Given the description of an element on the screen output the (x, y) to click on. 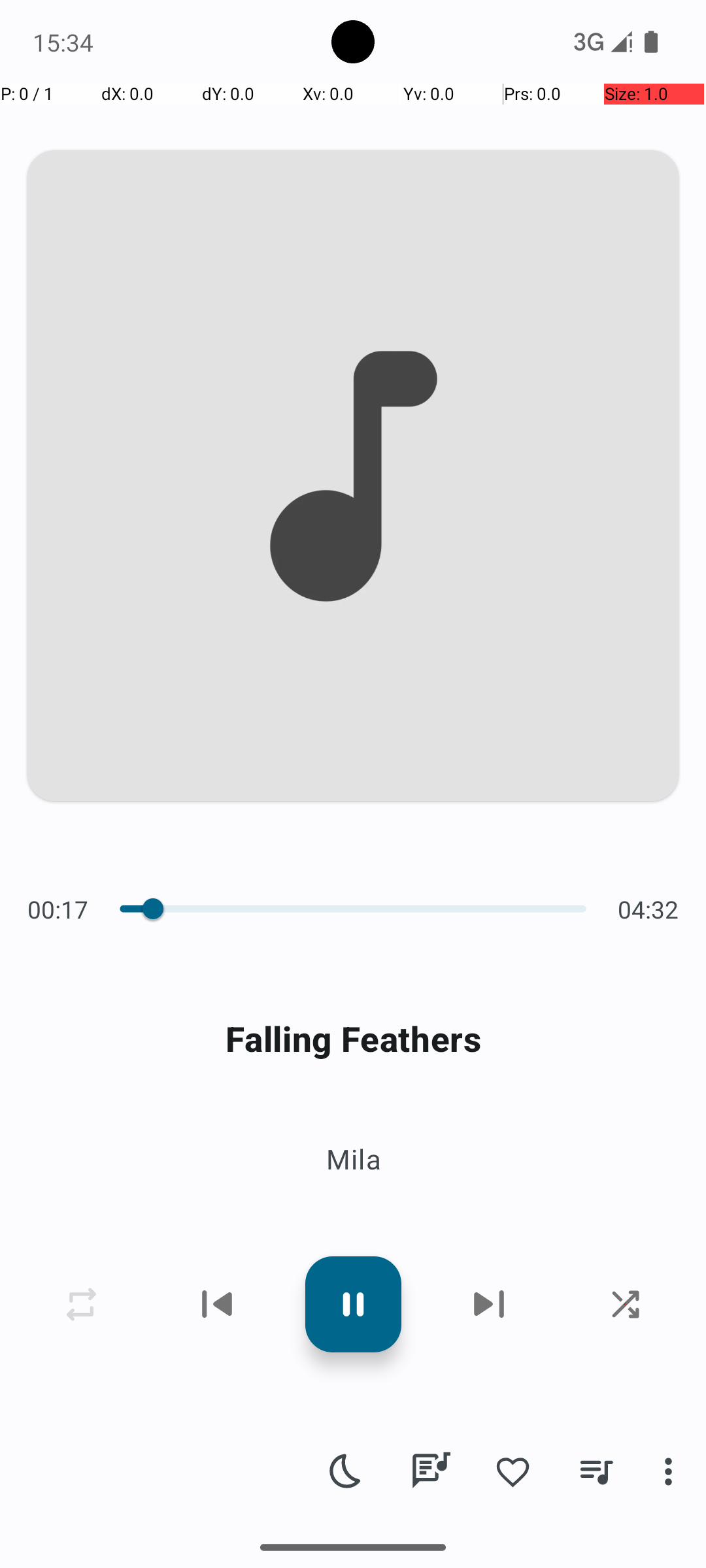
00:17 Element type: android.widget.TextView (61, 908)
04:32 Element type: android.widget.TextView (643, 908)
Falling Feathers Element type: android.widget.TextView (352, 1038)
Mila Element type: android.widget.TextView (352, 1158)
Sleep timer Element type: android.widget.Button (346, 1471)
Lyrics Element type: android.widget.Button (429, 1471)
Add to favorites Element type: android.widget.Button (512, 1471)
Now playing queue Element type: android.widget.Button (595, 1471)
Value, 13003 Element type: android.widget.SeekBar (144, 908)
Mohammad Element type: android.widget.TextView (147, 1503)
